Given the description of an element on the screen output the (x, y) to click on. 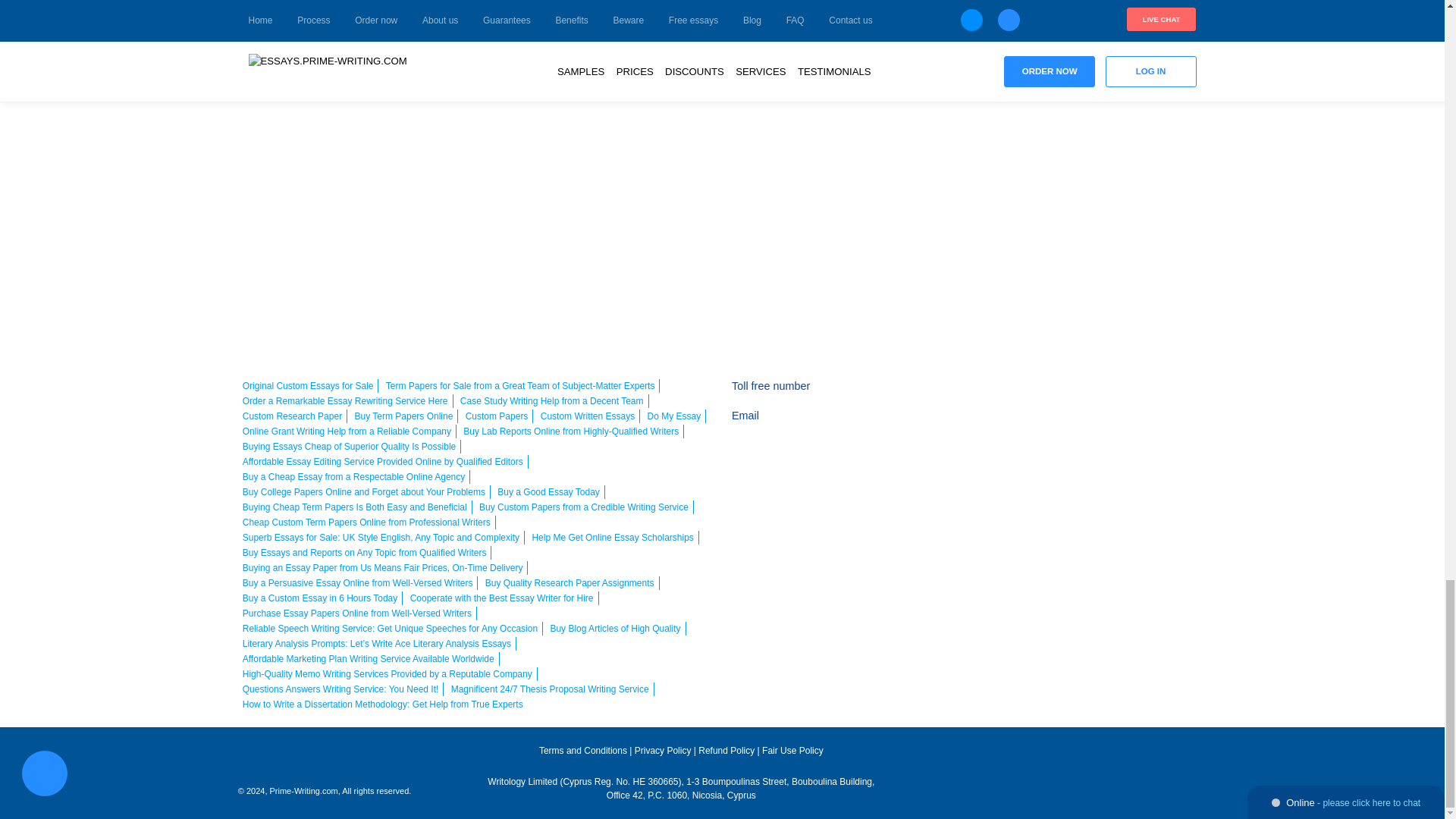
Credit and debit cards by Visa (1005, 395)
essays.prime-writing.com (1050, 755)
essays.prime-writing.com (342, 756)
Credit cards by American Express (1091, 395)
Credit and debit cards by MasterCard (1048, 395)
Credit cards by Diners Club (1048, 425)
Credit cards by JCB (1091, 425)
Credit cards by Discover (1176, 395)
Union pay (1133, 425)
Apple pay (1133, 395)
